Given the description of an element on the screen output the (x, y) to click on. 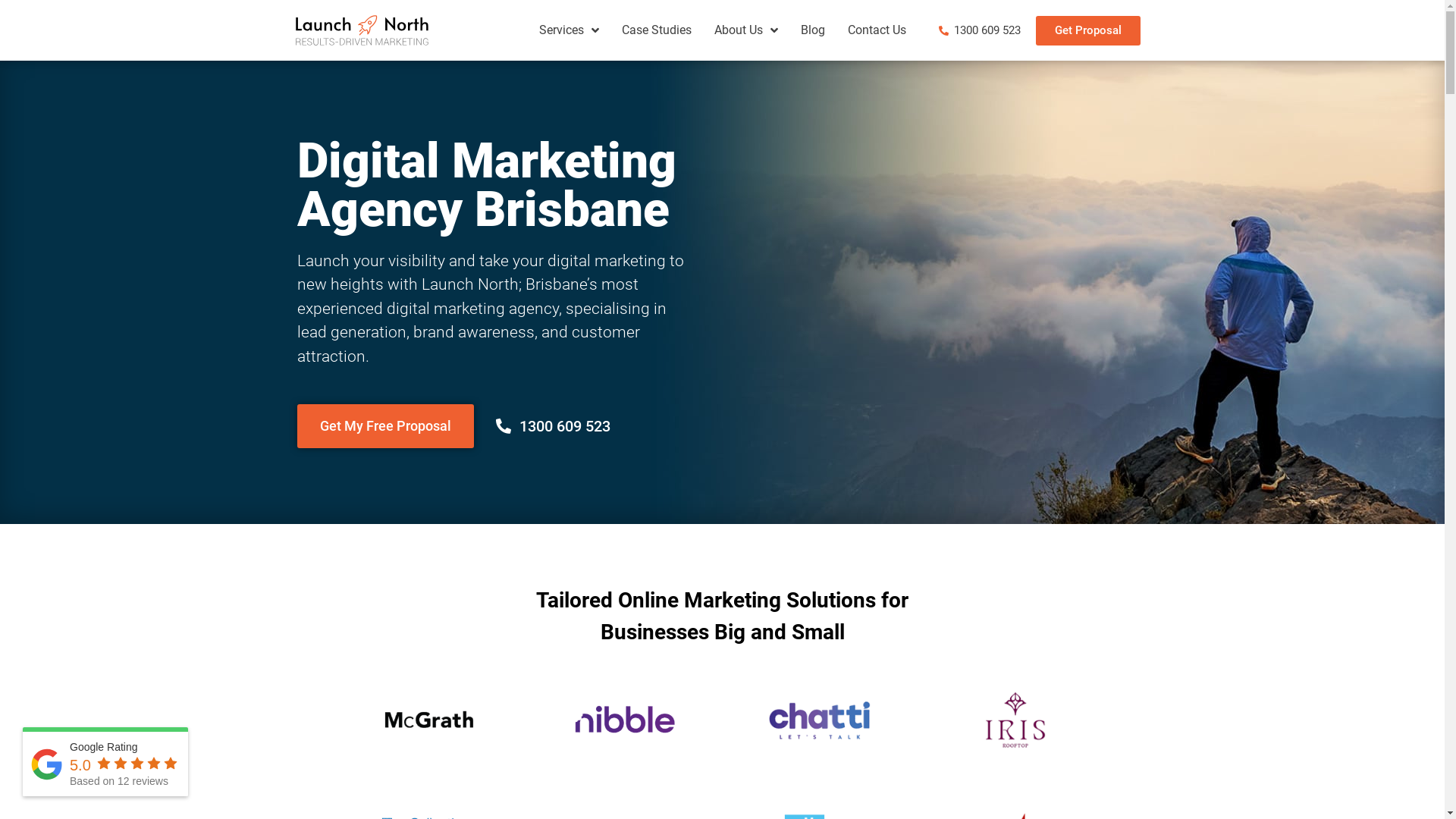
Get My Free Proposal Element type: text (385, 425)
Contact Us Element type: text (876, 30)
1300 609 523 Element type: text (978, 30)
About Us Element type: text (745, 30)
Case Studies Element type: text (656, 30)
1300 609 523 Element type: text (552, 425)
Blog Element type: text (812, 30)
Get Proposal Element type: text (1087, 29)
Services Element type: text (568, 30)
